Given the description of an element on the screen output the (x, y) to click on. 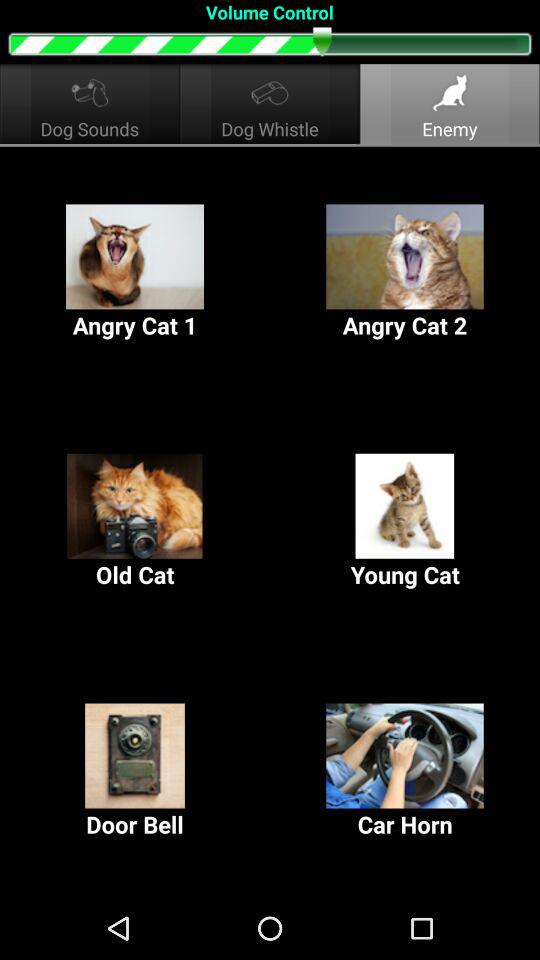
turn on the icon on the left (135, 521)
